Given the description of an element on the screen output the (x, y) to click on. 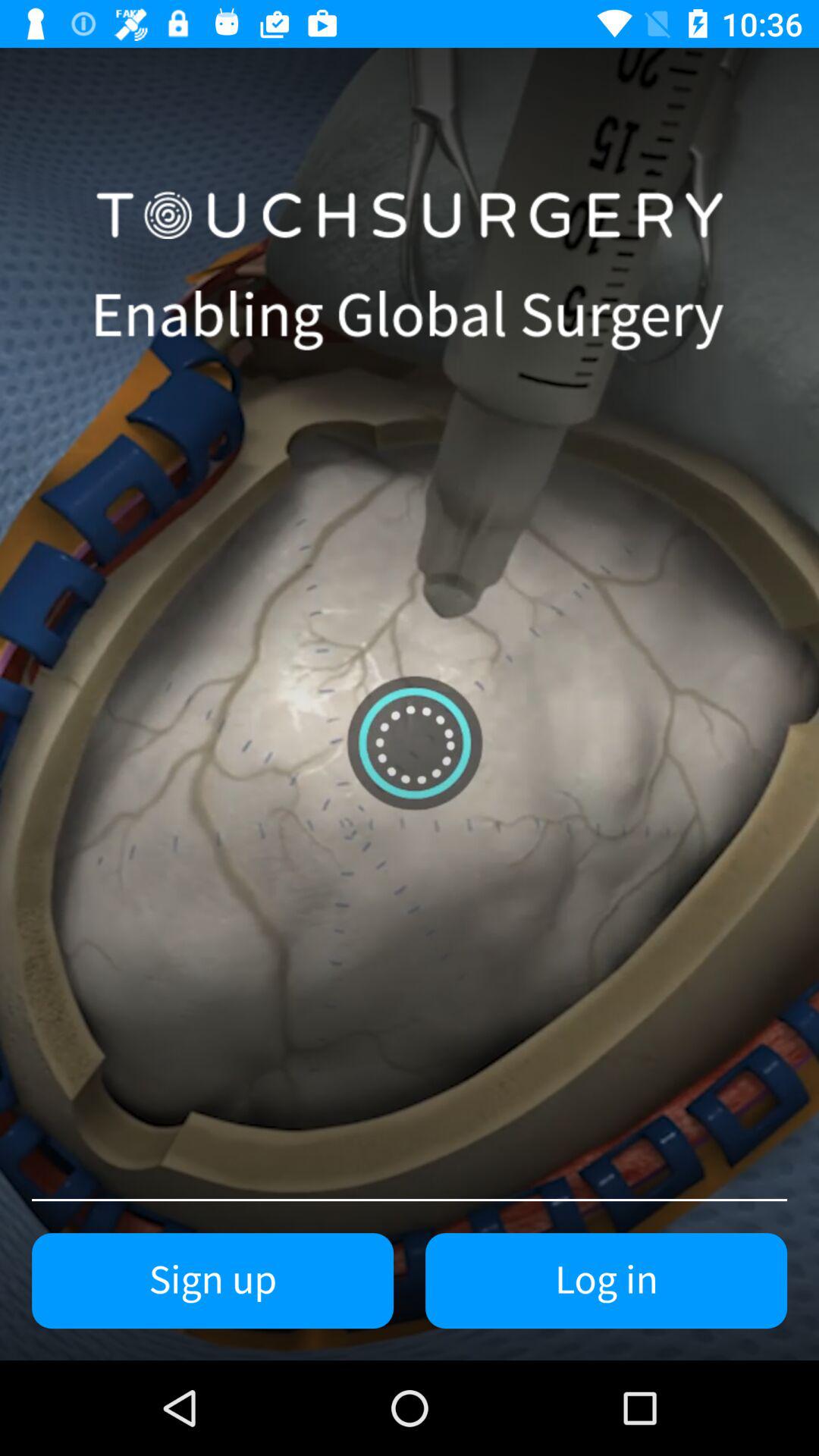
flip to the sign up icon (212, 1280)
